Given the description of an element on the screen output the (x, y) to click on. 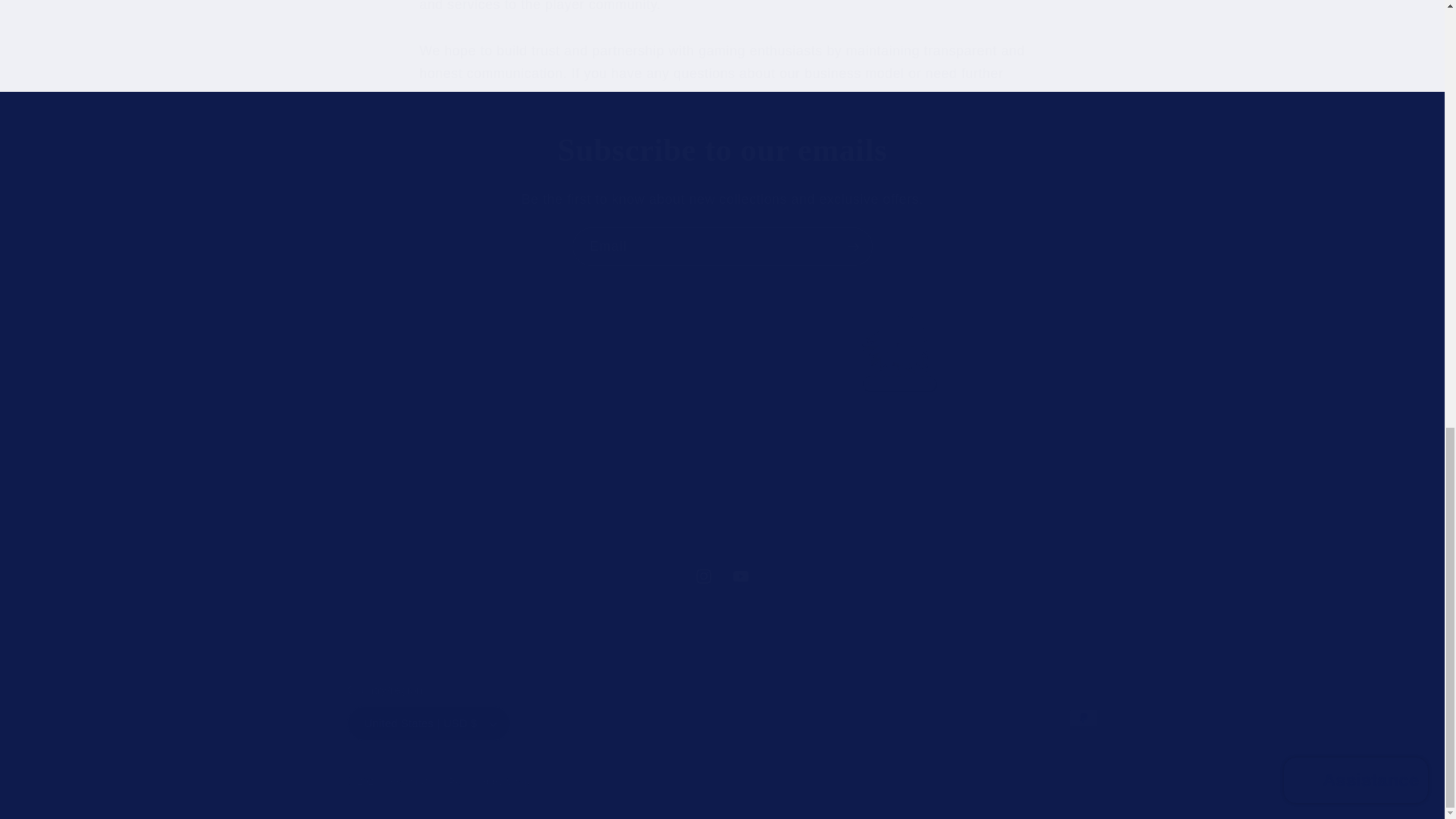
Subscribe to our emails (722, 150)
Email (722, 575)
